Given the description of an element on the screen output the (x, y) to click on. 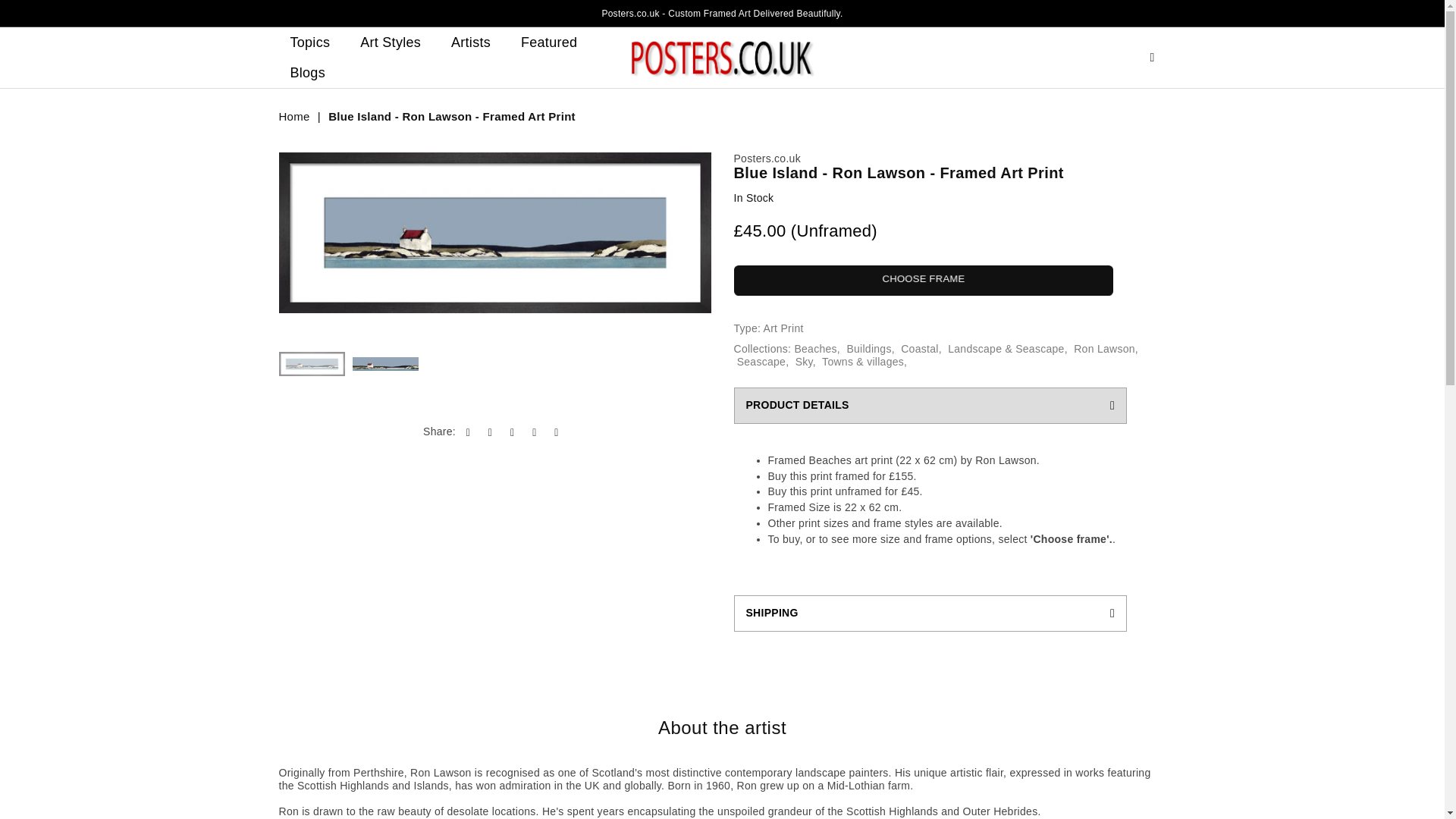
Artists (470, 42)
Buildings (868, 348)
Home (296, 116)
Ron Lawson (1104, 348)
Featured (548, 42)
Beaches (814, 348)
Search (1152, 56)
Coastal (919, 348)
POSTERS.CO.UK (721, 57)
Back to the home page (296, 116)
Seascape (761, 361)
Art Styles (390, 42)
Sky (803, 361)
CHOOSE FRAME (923, 280)
PRODUCT DETAILS (929, 405)
